Given the description of an element on the screen output the (x, y) to click on. 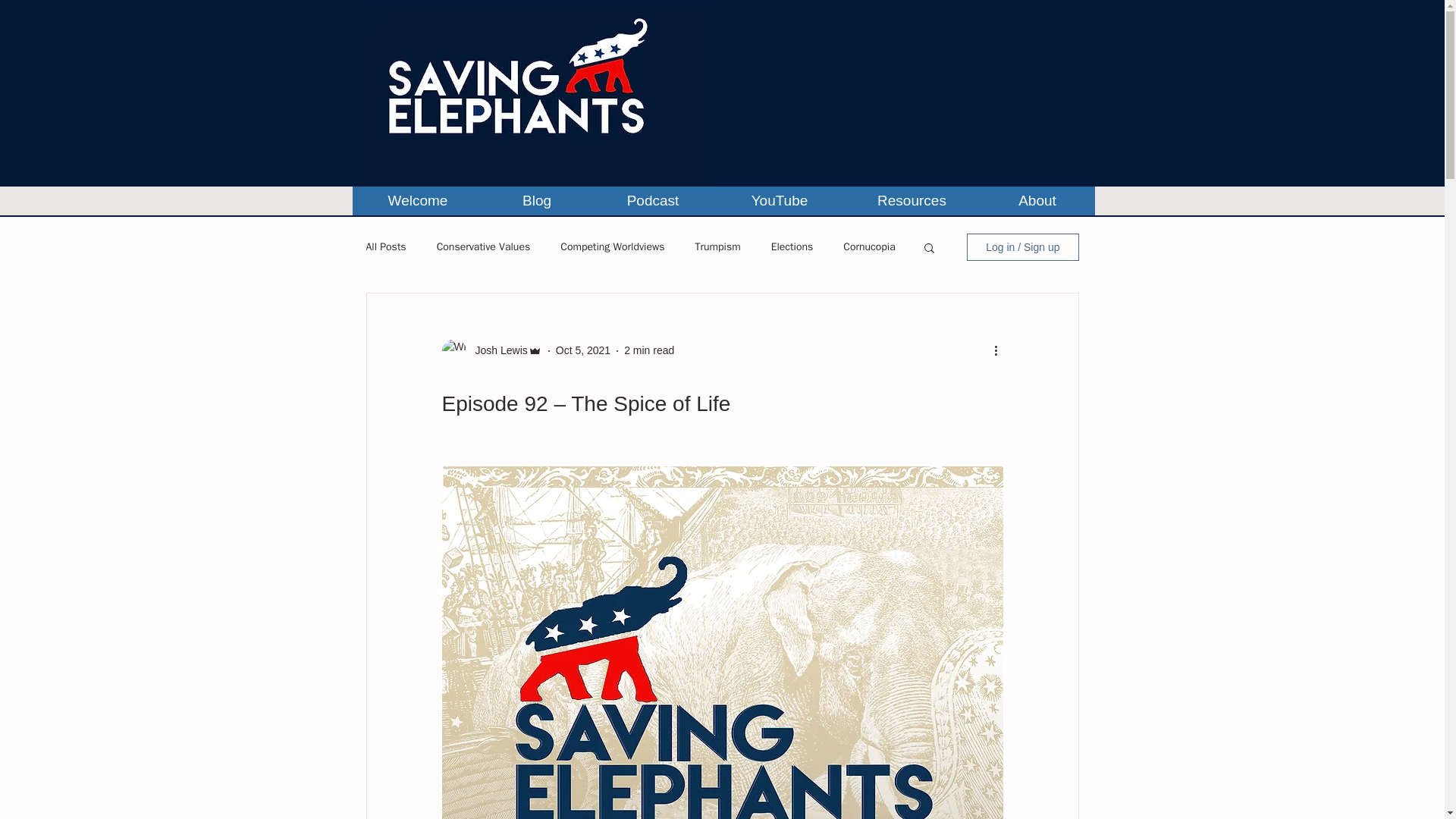
YouTube (780, 200)
Trumpism (716, 246)
All Posts (385, 246)
Competing Worldviews (611, 246)
Josh Lewis (496, 350)
Podcast (651, 200)
About (1036, 200)
savingelephants.jpg (536, 92)
Cornucopia (869, 246)
2 min read (649, 349)
